Given the description of an element on the screen output the (x, y) to click on. 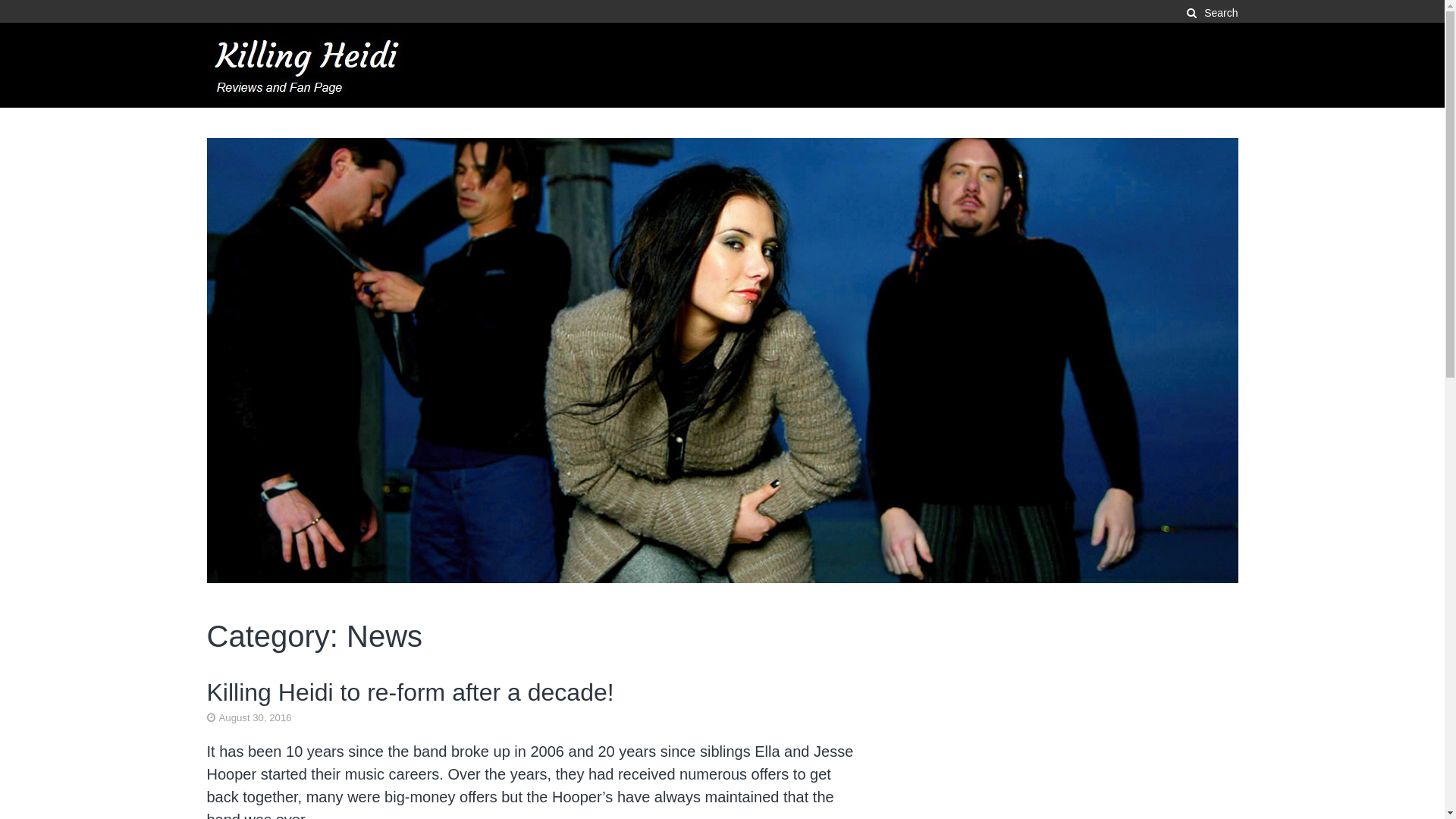
Killing Heidi to re-form after a decade! Element type: text (409, 691)
Search Element type: text (1204, 13)
August 30, 2016 Element type: text (248, 716)
Killing Heidi Element type: text (277, 119)
